Given the description of an element on the screen output the (x, y) to click on. 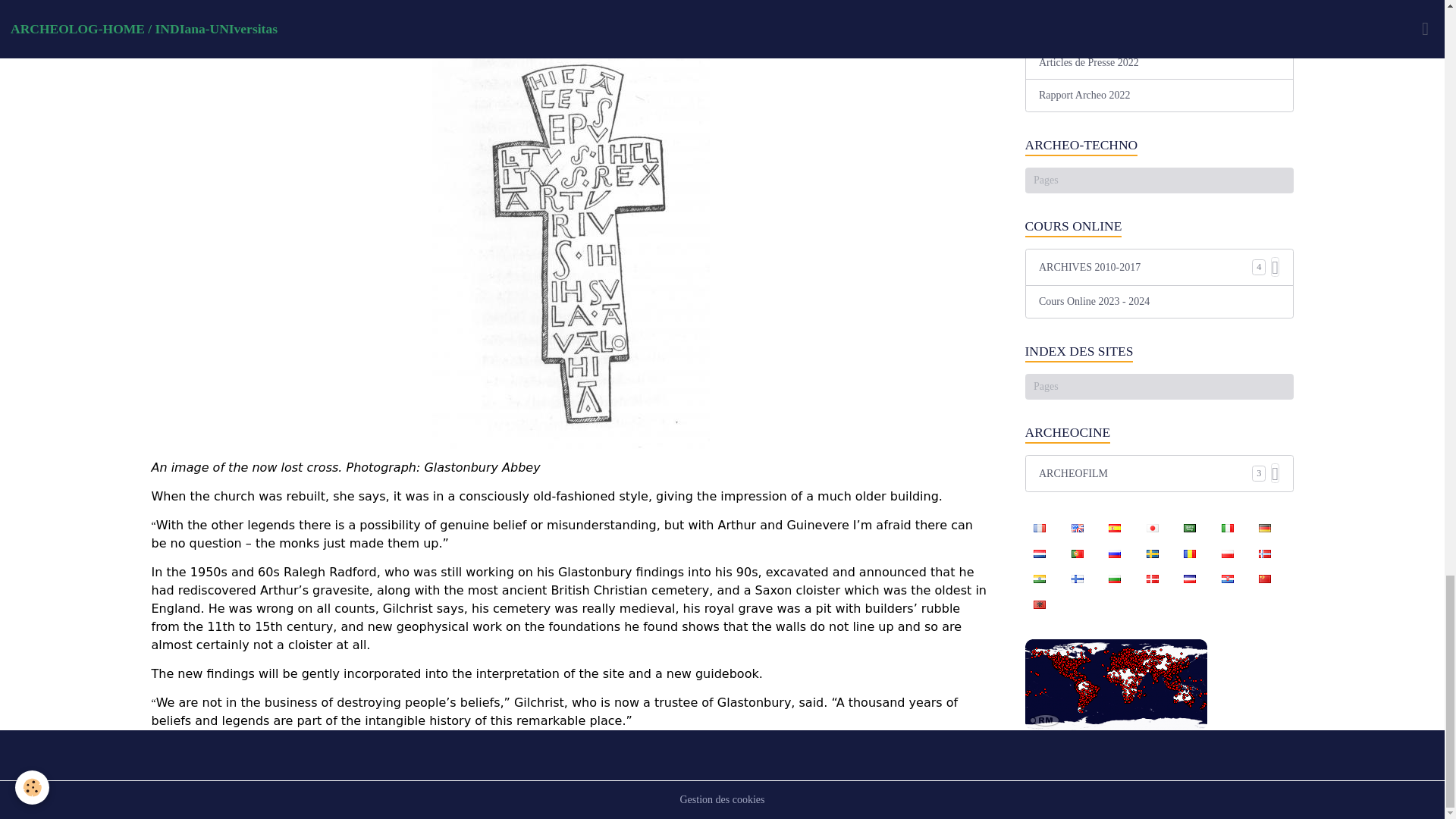
Romanian (1189, 186)
Norwegian (1264, 186)
Japanese (1152, 162)
Deutsch (1264, 162)
Czech (1189, 212)
Portuguesa (1077, 186)
Finnish (1077, 212)
Nederlands (1039, 186)
Russian (1114, 186)
Bulgarian (1114, 212)
